Given the description of an element on the screen output the (x, y) to click on. 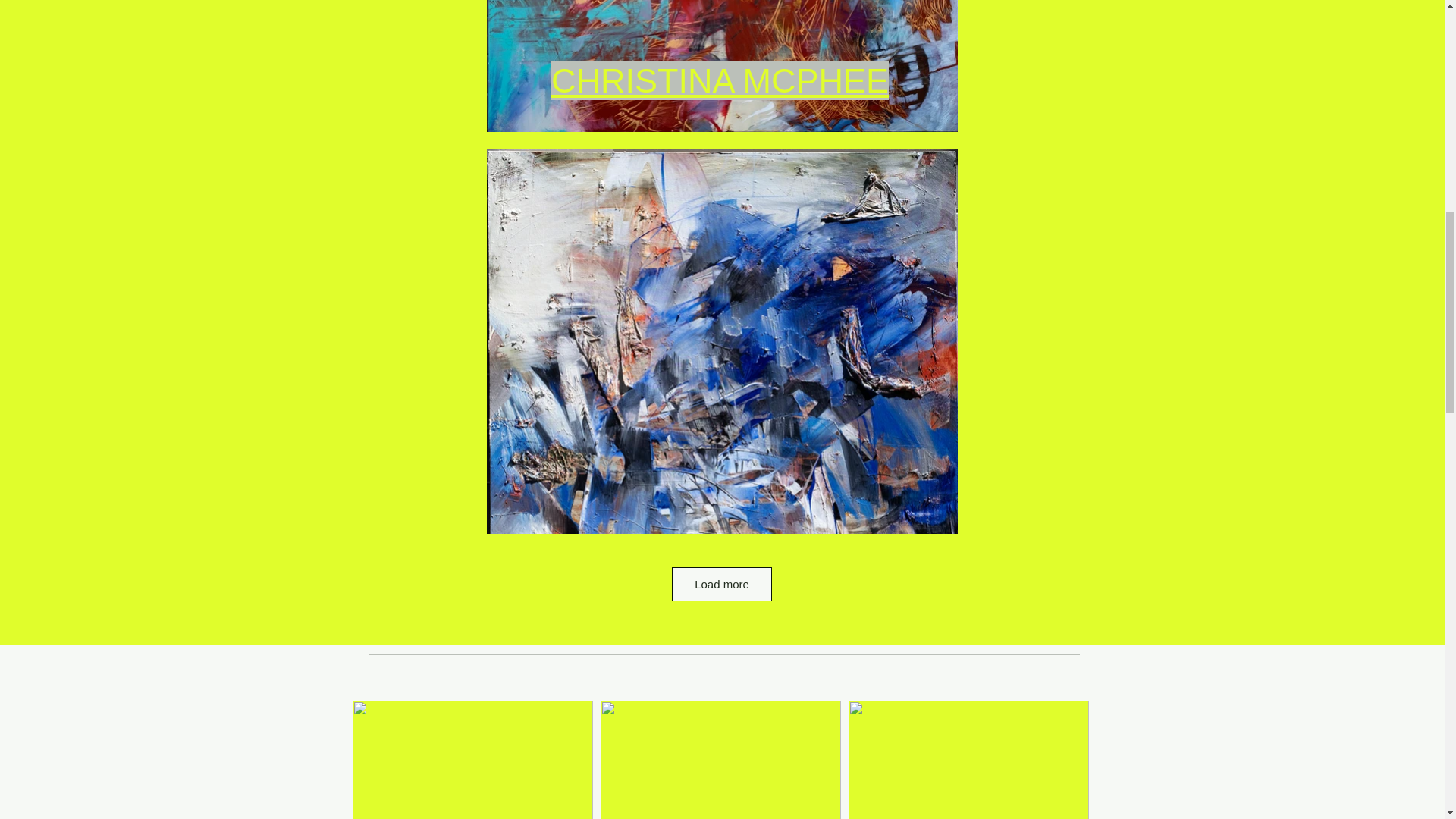
Load more (721, 584)
